Given the description of an element on the screen output the (x, y) to click on. 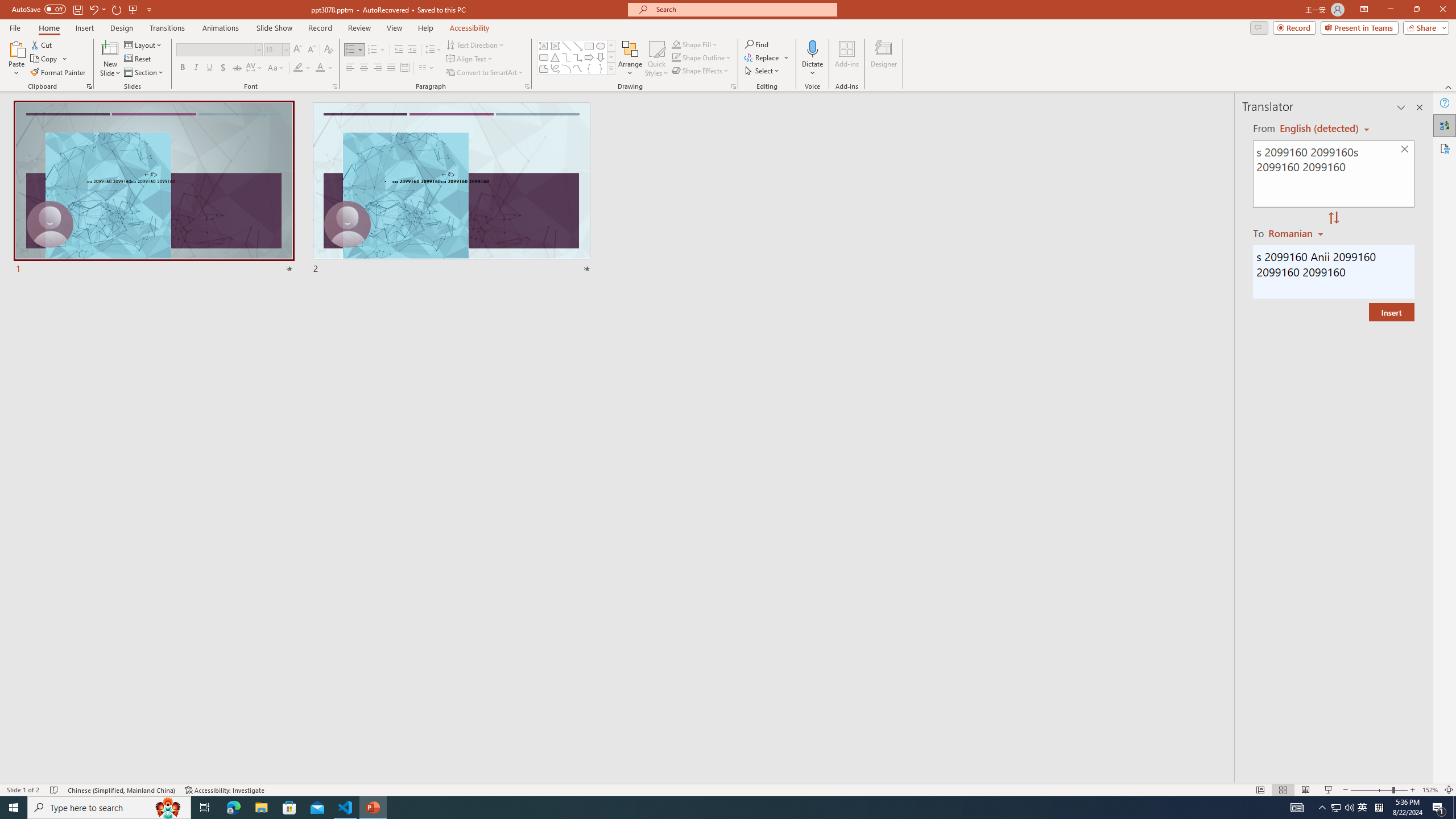
Shape Outline Green, Accent 1 (675, 56)
